Given the description of an element on the screen output the (x, y) to click on. 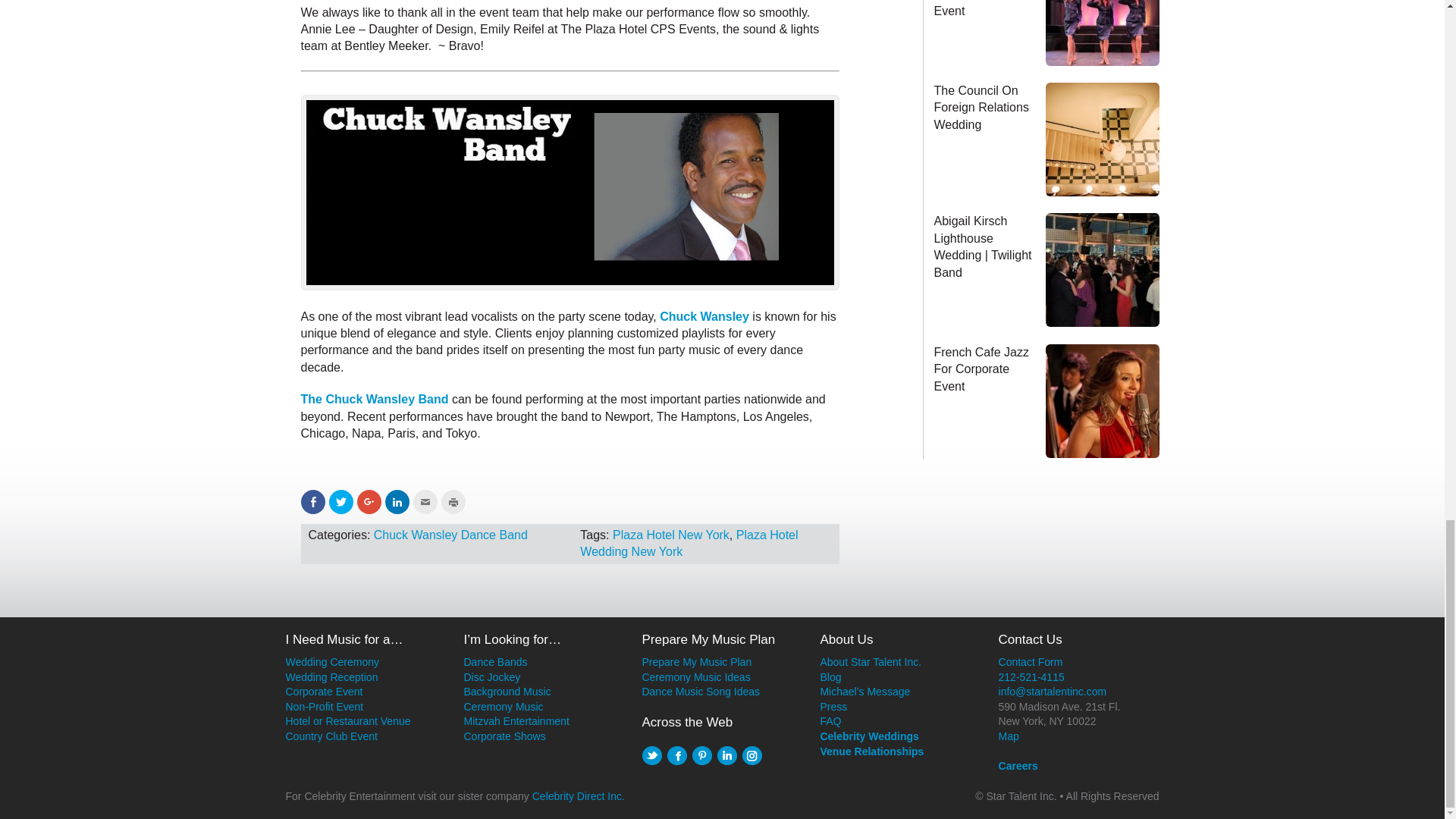
Click to share on Facebook (311, 501)
Click to email this to a friend (424, 501)
Click to share on Twitter (341, 501)
Patriotic Music Show For Washington DC Event (1096, 33)
French Cafe Jazz For Corporate Event (981, 369)
The Council On Foreign Relations Wedding (1096, 140)
Click to print (453, 501)
The Council On Foreign Relations Wedding (981, 107)
Patriotic Music Show For Washington DC Event (975, 8)
Chuck Wansley Dance Band (450, 534)
Click to share on LinkedIn (397, 501)
Plaza Hotel Wedding New York (688, 542)
Chuck Wansley (704, 316)
Plaza Hotel New York (670, 534)
The Chuck Wansley Band (373, 399)
